Given the description of an element on the screen output the (x, y) to click on. 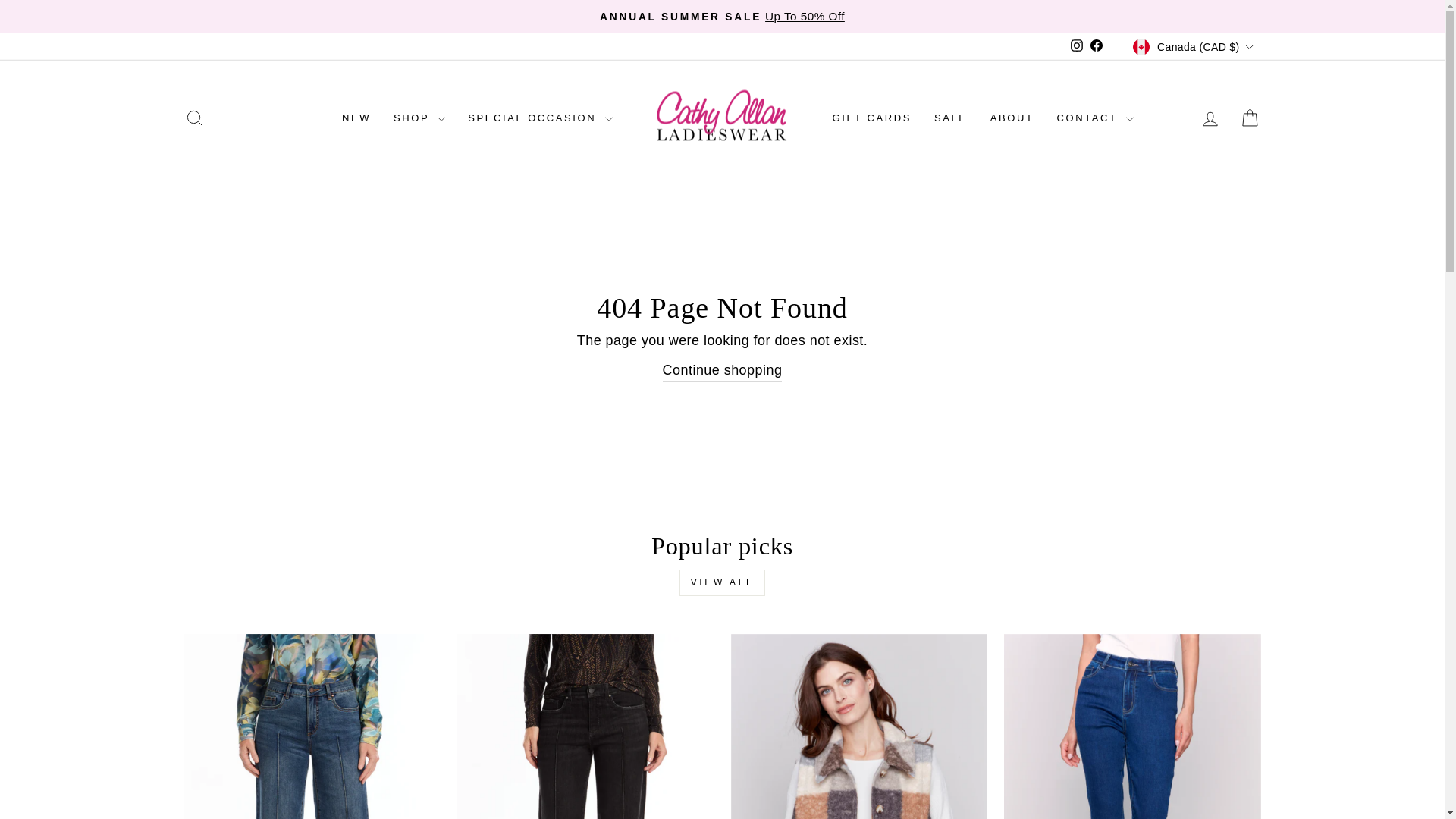
instagram (1076, 45)
ICON-SEARCH (194, 117)
ACCOUNT (1210, 118)
